Given the description of an element on the screen output the (x, y) to click on. 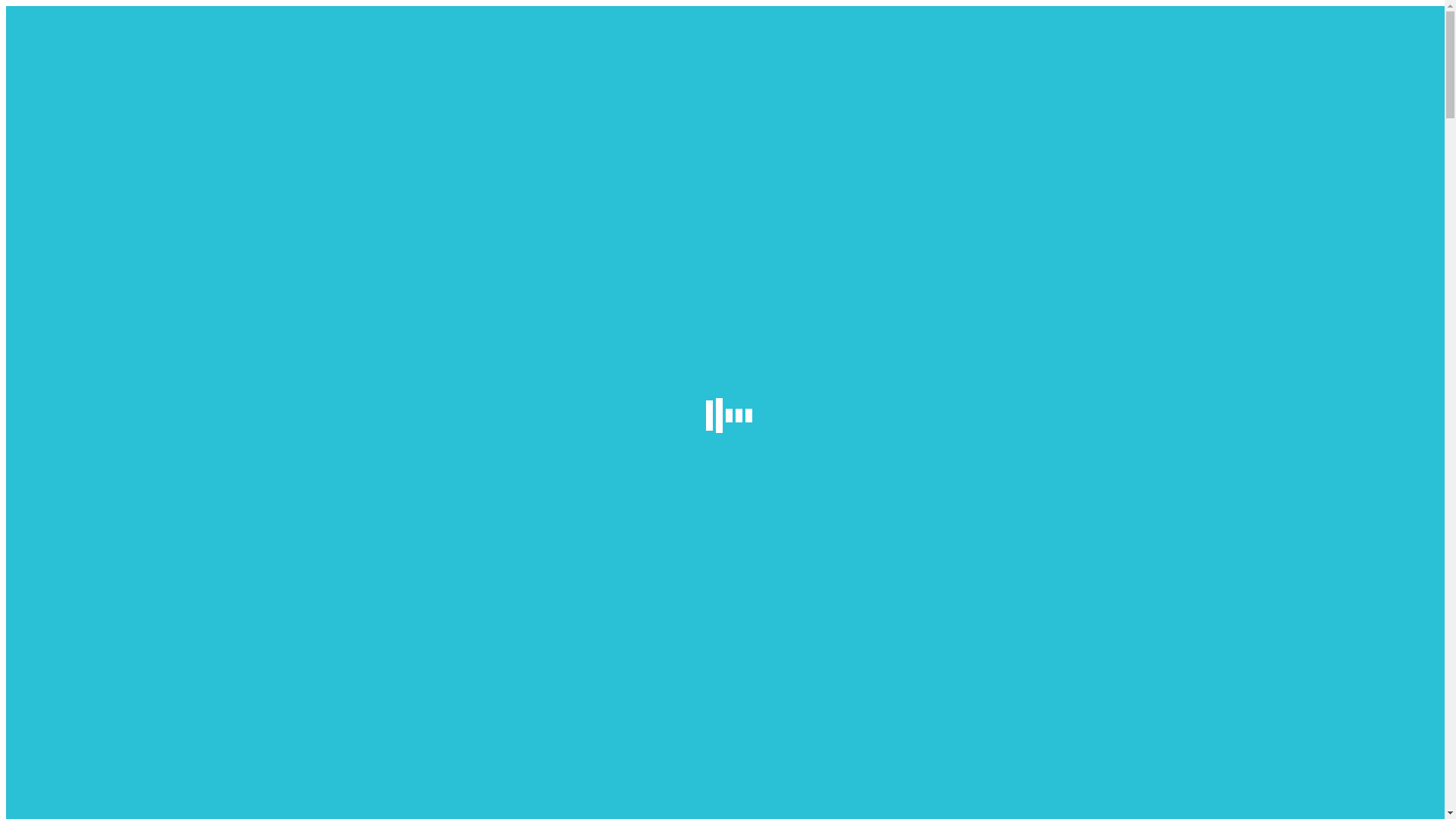
Blog Element type: text (47, 330)
Life Events Element type: text (94, 303)
Sunshine Coast Events Element type: text (122, 492)
FAQs Element type: text (50, 344)
About Element type: text (51, 180)
Weddings Element type: text (60, 194)
Weddings Element type: text (60, 397)
Events Element type: text (52, 275)
Events Element type: text (52, 479)
Wedding Receptions Element type: text (116, 438)
Weddings Ceremonies Element type: text (120, 207)
Wedding Receptions Element type: text (116, 235)
Wedding Planning Element type: text (111, 248)
Go! Element type: text (20, 44)
Sunshine Coast Events Element type: text (122, 289)
Life Events Element type: text (94, 506)
About Element type: text (51, 383)
Marquees & Private Properties Element type: text (141, 262)
Skip to content Element type: text (5, 5)
Contact Element type: text (55, 357)
Wedding Ceremony Packages Element type: text (139, 424)
Flowers Element type: text (55, 316)
(07) 5474 0299 Element type: text (43, 58)
Blog Element type: text (47, 533)
Flowers Element type: text (55, 520)
Marquees & Private Properties Element type: text (141, 465)
FAQs Element type: text (50, 547)
Contact Element type: text (55, 561)
Weddings Ceremonies Element type: text (120, 410)
GET A QUOTE Element type: text (120, 58)
Wedding Planning Element type: text (111, 451)
Wedding Ceremony Packages Element type: text (139, 221)
Search form Element type: hover (73, 28)
